Given the description of an element on the screen output the (x, y) to click on. 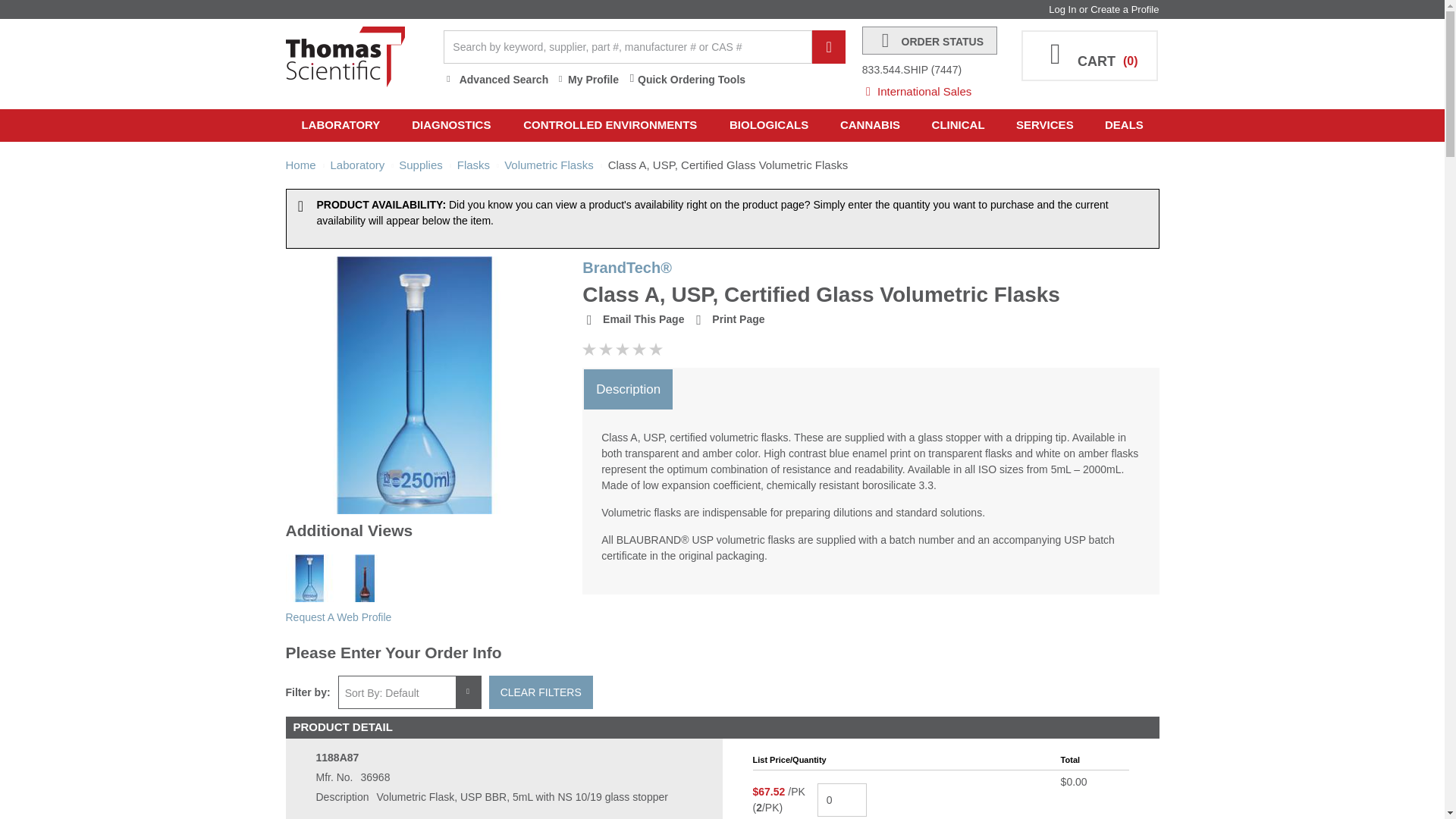
International Sales (934, 87)
GO (828, 46)
Quick Ordering Tools (685, 79)
Perform a detailed search with advanced filters (496, 79)
Log In (1061, 9)
Access your web profile information at Thomas Scientific (587, 79)
Advanced Search (496, 79)
0 (841, 799)
